Given the description of an element on the screen output the (x, y) to click on. 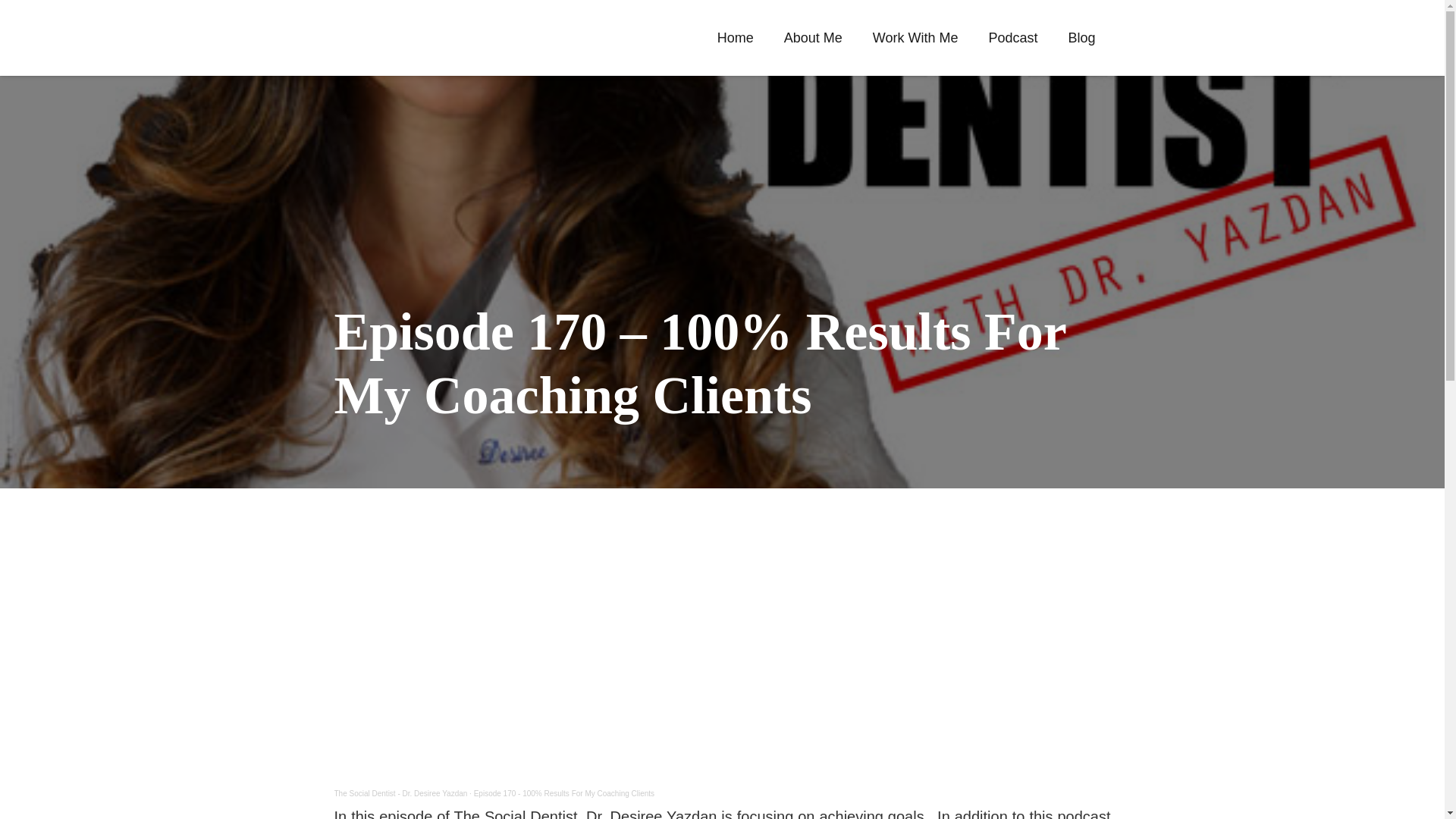
The Social Dentist - Dr. Desiree Yazdan (400, 793)
About Me (812, 37)
Podcast (1012, 37)
Home (734, 37)
The Social Dentist - Dr. Desiree Yazdan (400, 793)
Work With Me (915, 37)
Blog (1080, 37)
